Given the description of an element on the screen output the (x, y) to click on. 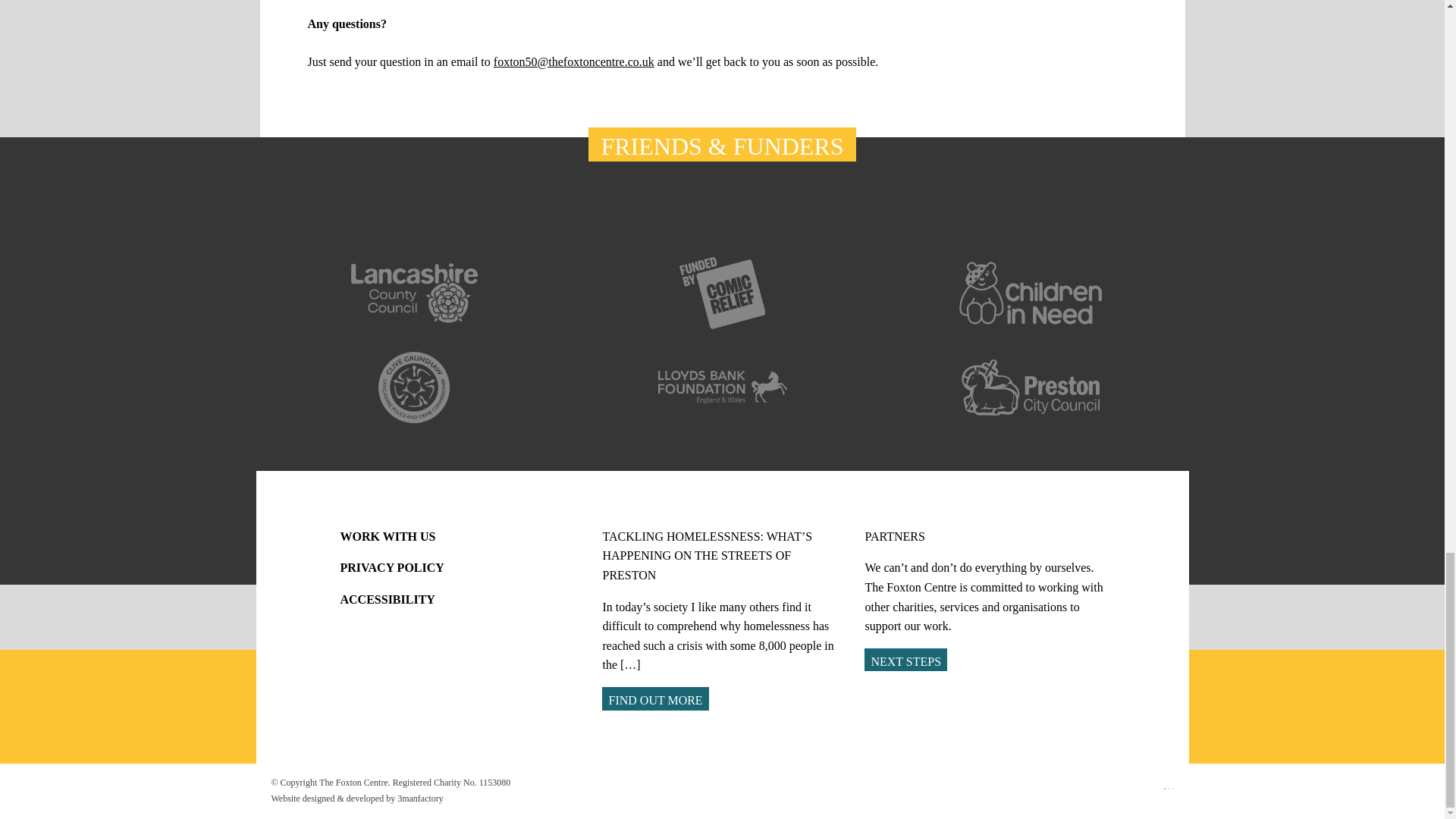
Get involved with the community (905, 659)
